Given the description of an element on the screen output the (x, y) to click on. 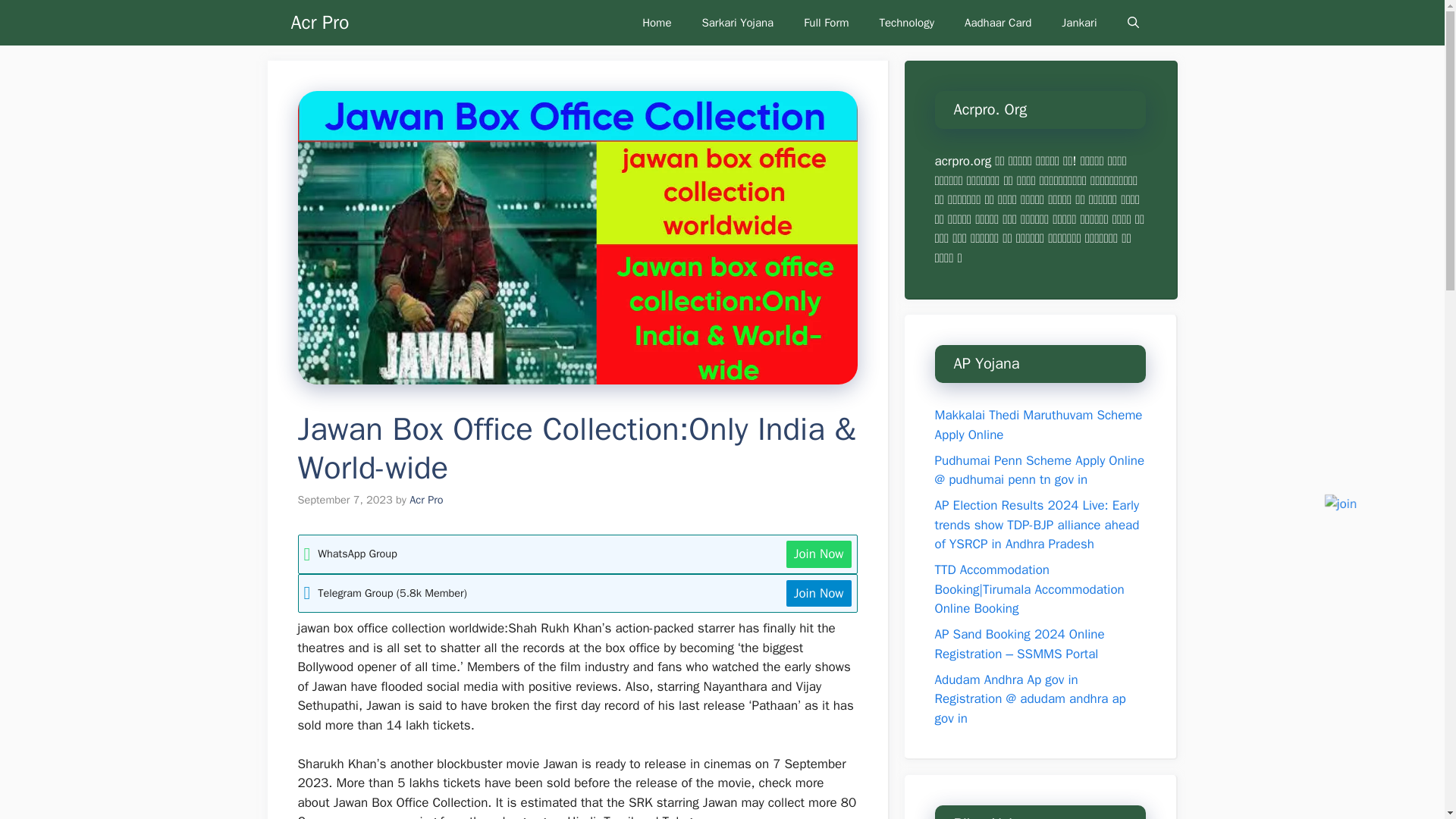
Jankari (1079, 22)
Acr Pro (425, 499)
Join Now (818, 593)
Full Form (826, 22)
Acr Pro (320, 22)
View all posts by Acr Pro (425, 499)
Home (656, 22)
Sarkari Yojana (738, 22)
Makkalai Thedi Maruthuvam Scheme Apply Online (1037, 425)
